Given the description of an element on the screen output the (x, y) to click on. 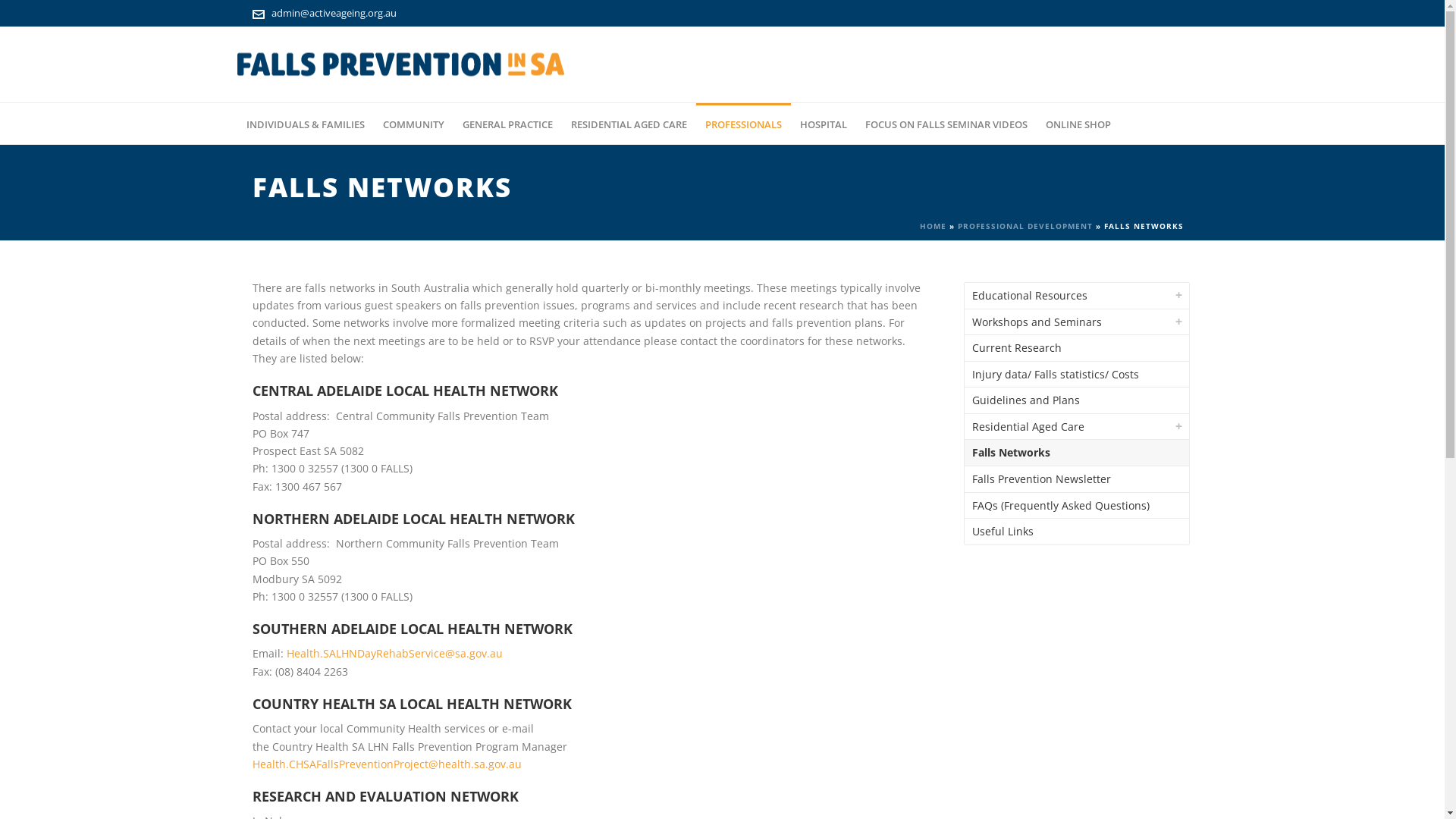
HOME Element type: text (932, 225)
Workshops and Seminars Element type: text (1076, 322)
GENERAL PRACTICE Element type: text (507, 123)
Residential Aged Care Element type: text (1076, 426)
RESIDENTIAL AGED CARE Element type: text (628, 123)
FOCUS ON FALLS SEMINAR VIDEOS Element type: text (945, 123)
PROFESSIONALS Element type: text (743, 123)
Current Research Element type: text (1076, 347)
Injury data/ Falls statistics/ Costs Element type: text (1076, 374)
INDIVIDUALS & FAMILIES Element type: text (304, 123)
admin@activeageing.org.au Element type: text (333, 12)
Useful Links Element type: text (1076, 531)
Educational Resources Element type: text (1076, 295)
Guidelines and Plans Element type: text (1076, 400)
FAQs (Frequently Asked Questions) Element type: text (1076, 505)
HOSPITAL Element type: text (822, 123)
Health.CHSAFallsPreventionProject@health.sa.gov.au Element type: text (385, 763)
Move more, feel better Element type: hover (399, 64)
Health.SALHNDayRehabService@sa.gov.au Element type: text (394, 653)
ONLINE SHOP Element type: text (1077, 123)
Falls Prevention in SA Element type: hover (399, 64)
PROFESSIONAL DEVELOPMENT Element type: text (1024, 225)
COMMUNITY Element type: text (412, 123)
Falls Networks Element type: text (1076, 452)
Falls Prevention Newsletter Element type: text (1076, 479)
